Given the description of an element on the screen output the (x, y) to click on. 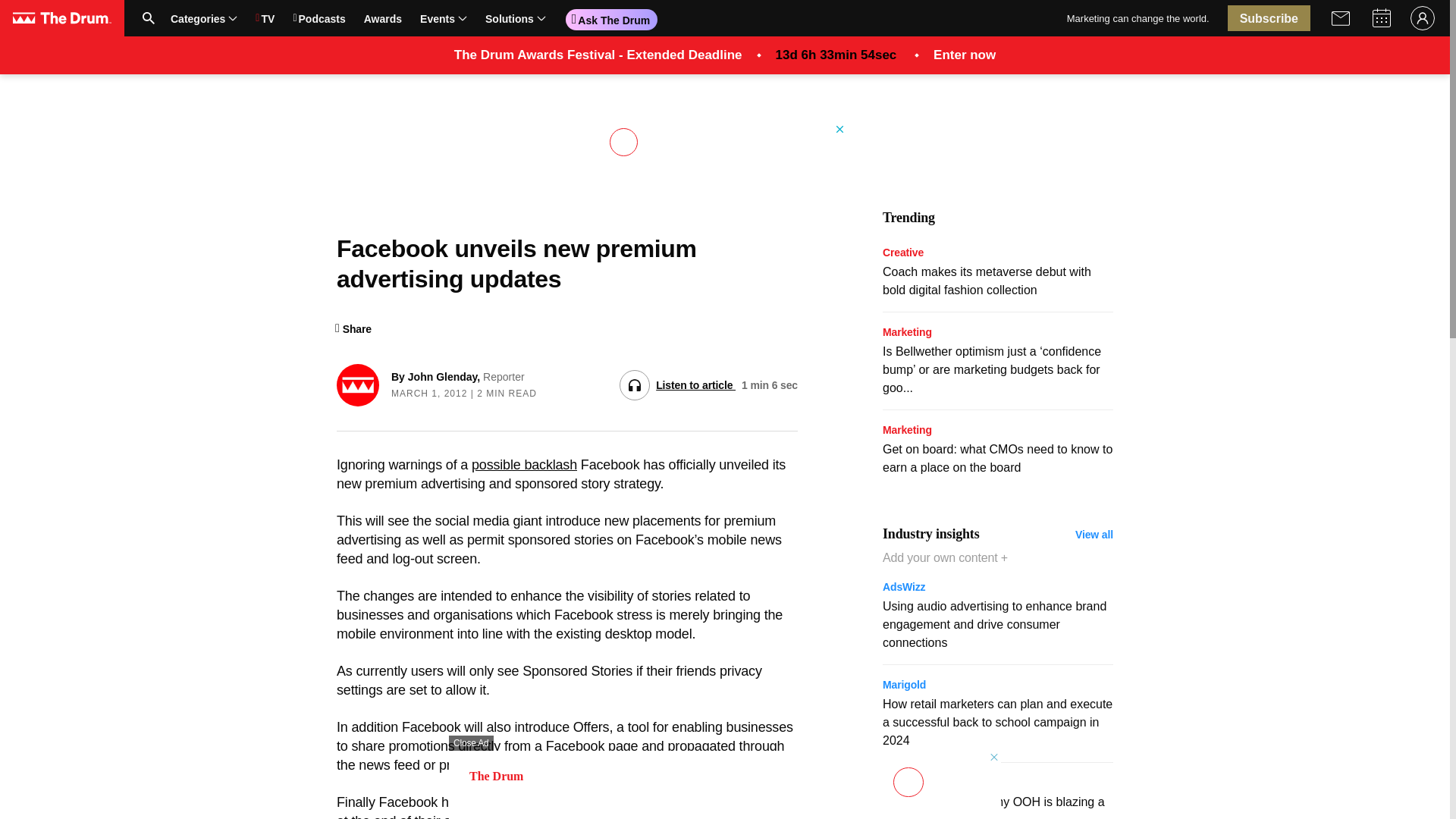
3rd party ad content (724, 785)
Categories (409, 18)
3rd party ad content (203, 17)
